Given the description of an element on the screen output the (x, y) to click on. 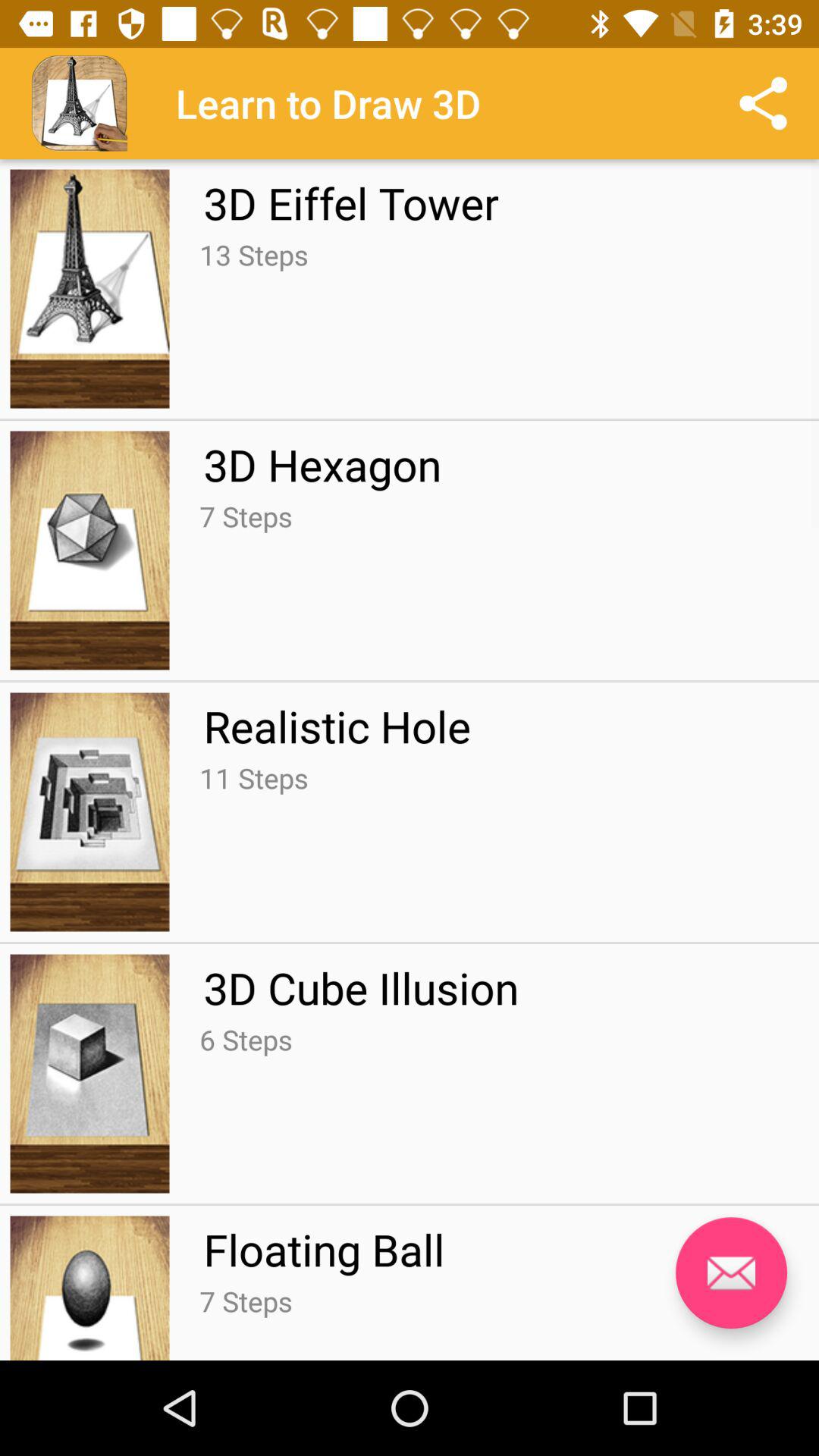
click item below the 7 steps icon (336, 725)
